Given the description of an element on the screen output the (x, y) to click on. 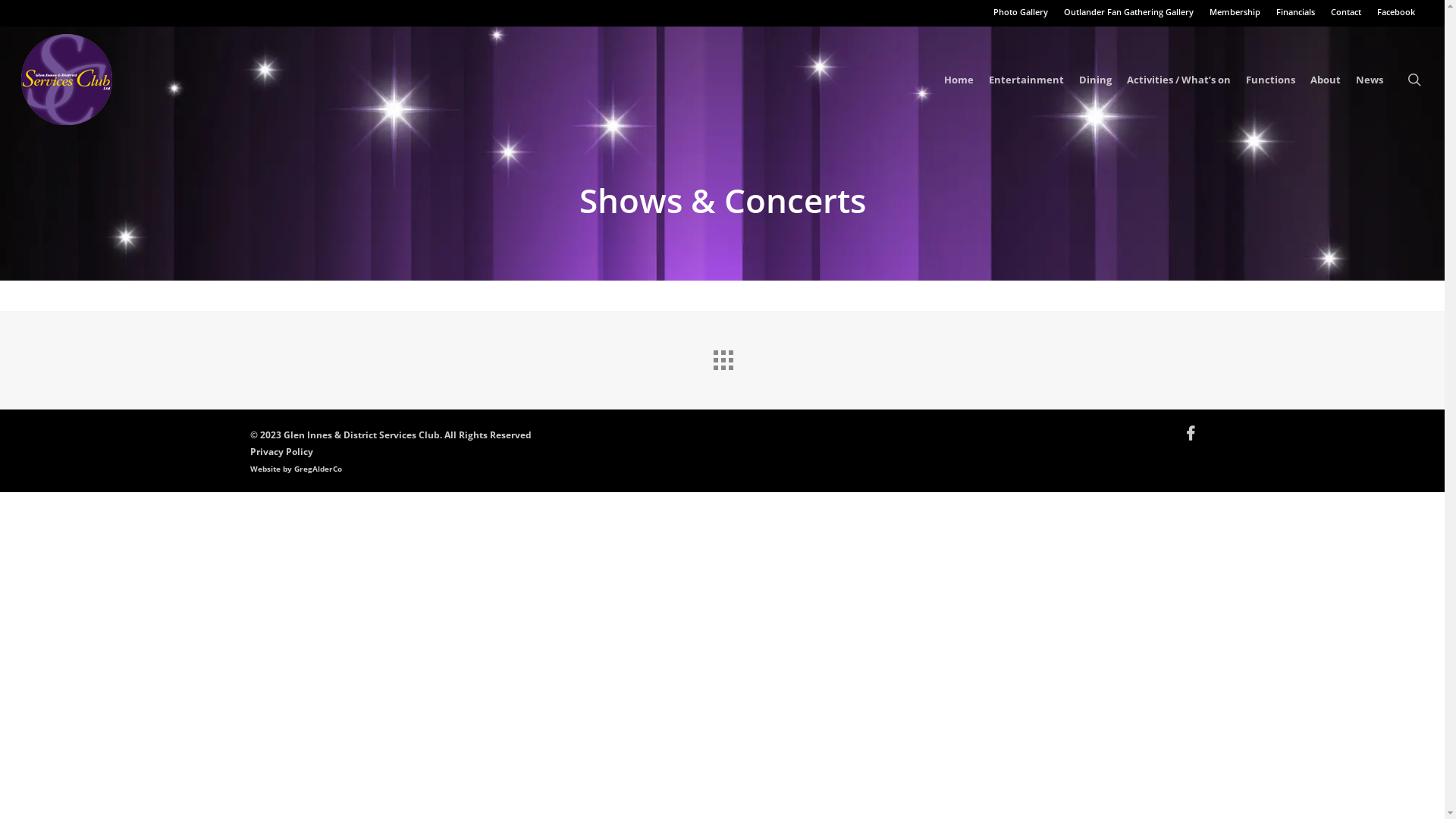
GregAlderCo Element type: text (318, 468)
Back to all projects Element type: hover (721, 356)
Entertainment Element type: text (1026, 79)
Privacy Policy Element type: text (281, 451)
Contact Element type: text (1345, 11)
Financials Element type: text (1294, 11)
Facebook Element type: text (1395, 11)
search Element type: text (1414, 79)
News Element type: text (1369, 79)
About Element type: text (1325, 79)
facebook Element type: text (1190, 433)
Outlander Fan Gathering Gallery Element type: text (1128, 11)
Photo Gallery Element type: text (1020, 11)
Home Element type: text (958, 79)
Dining Element type: text (1095, 79)
Functions Element type: text (1270, 79)
Membership Element type: text (1234, 11)
